Given the description of an element on the screen output the (x, y) to click on. 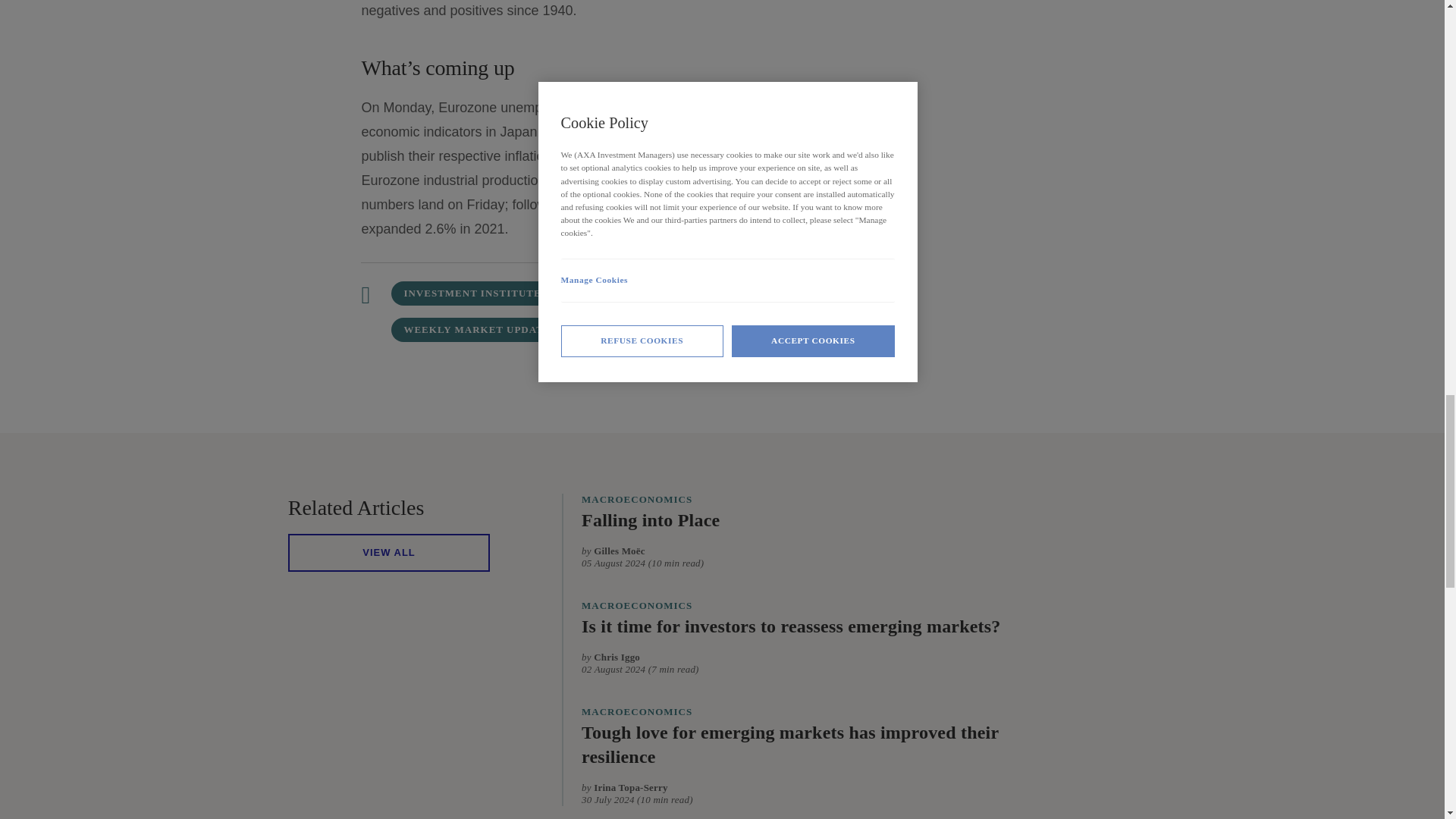
Explore Weekly Market Update insights (476, 329)
Explore Macroeconomics insights (633, 293)
Explore Investment Institute insights (472, 293)
Read the article: Falling into Place (649, 521)
